Given the description of an element on the screen output the (x, y) to click on. 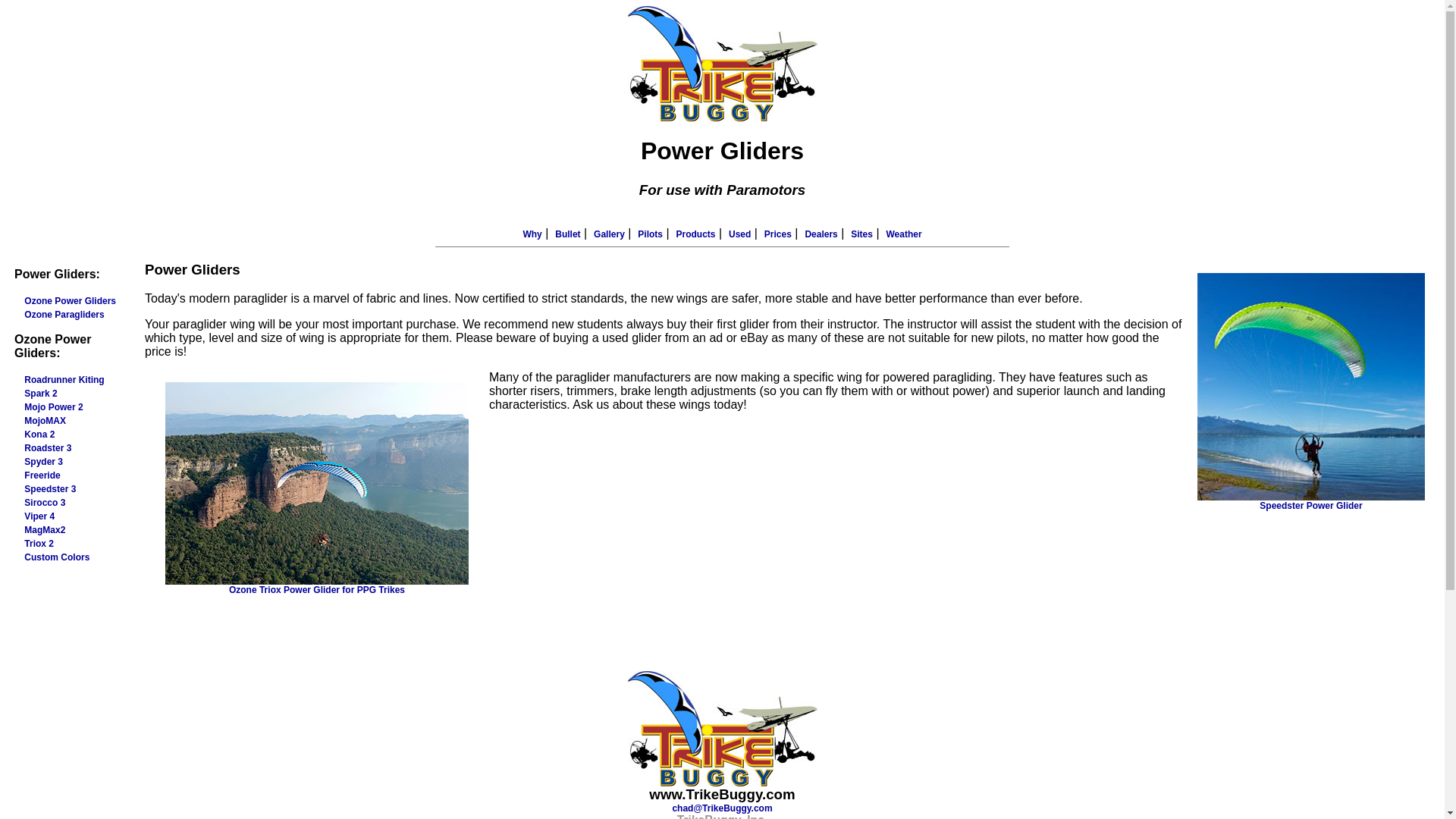
Custom Colors (56, 557)
Roadrunner Kiting (63, 379)
Speedster 3 (49, 489)
Freeride (41, 475)
Spark 2 (40, 393)
Why (531, 234)
MagMax2 (44, 529)
Roadster 3 (47, 448)
Weather (903, 234)
Kona 2 (39, 434)
